Given the description of an element on the screen output the (x, y) to click on. 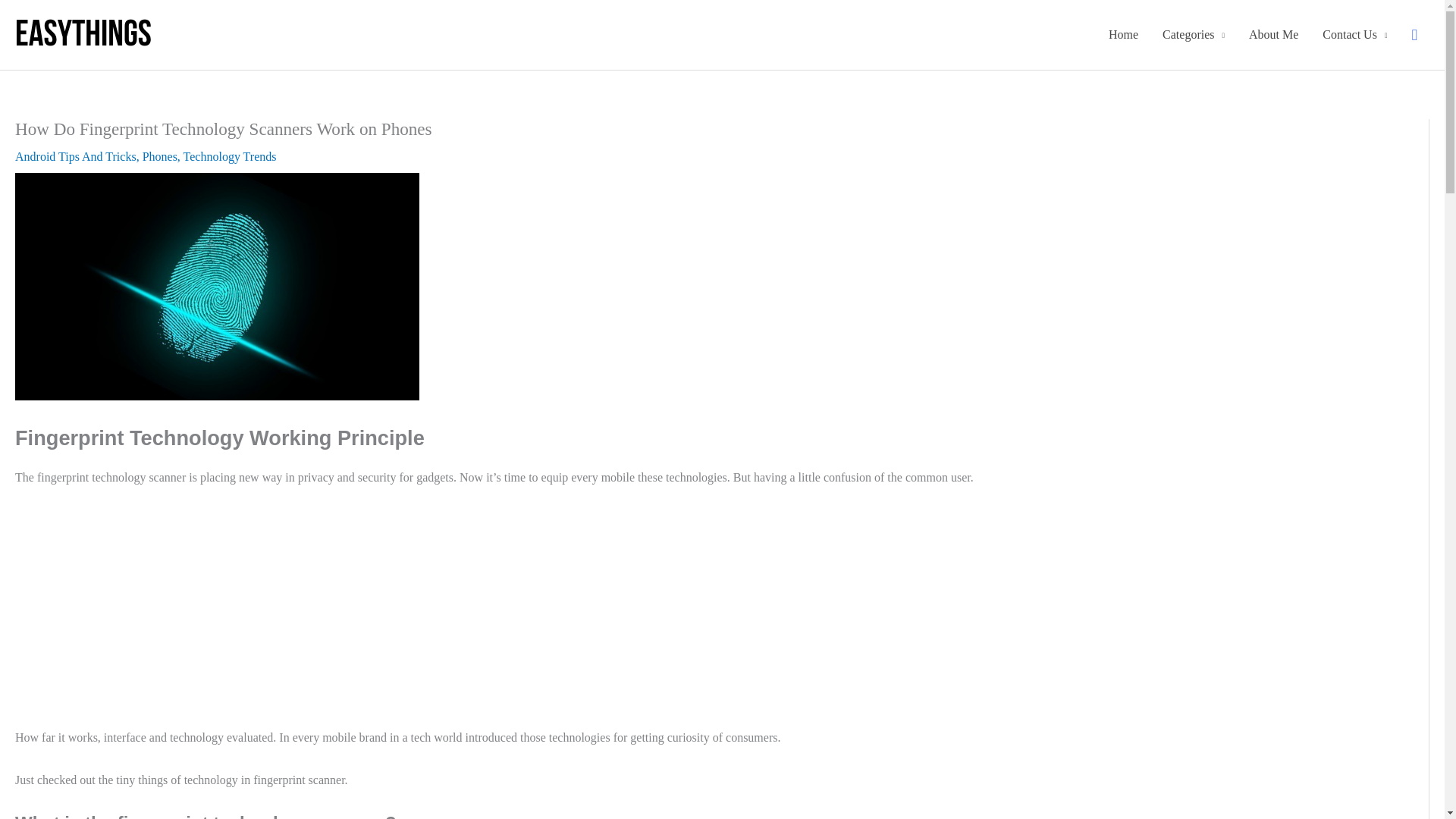
Advertisement (698, 613)
Phones (159, 155)
Categories (1193, 34)
Home (1123, 34)
Contact Us (1354, 34)
Android Tips And Tricks (75, 155)
About Me (1273, 34)
Technology Trends (229, 155)
